Given the description of an element on the screen output the (x, y) to click on. 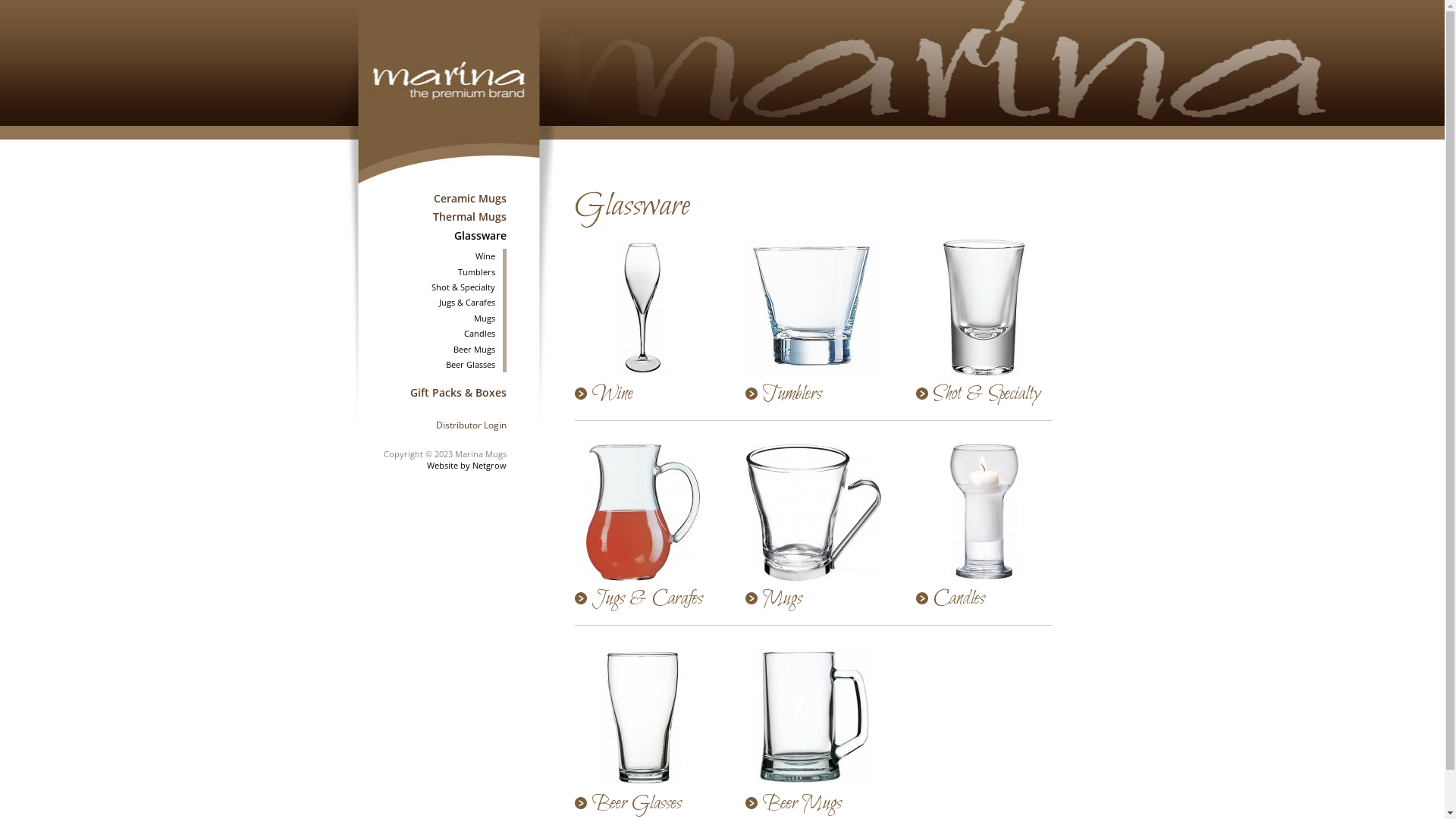
Beer Glasses Element type: text (432, 364)
Beer Glasses Element type: text (642, 803)
Candles Element type: text (984, 598)
Shot & Specialty Element type: text (984, 393)
Mugs Element type: text (432, 318)
Gift Packs & Boxes Element type: text (438, 392)
Mugs Element type: text (812, 598)
Website by Netgrow Element type: text (465, 464)
Marina, the premium brand Element type: text (448, 82)
Wine Element type: text (642, 393)
Beer Mugs Element type: text (812, 803)
Tumblers Element type: text (432, 271)
Glassware Element type: text (438, 235)
Shot & Specialty Element type: text (432, 286)
Candles Element type: text (432, 333)
Ceramic Mugs Element type: text (438, 198)
Distributor Login Element type: text (438, 425)
Tumblers Element type: text (812, 393)
Jugs & Carafes Element type: text (432, 302)
Wine Element type: text (432, 255)
Thermal Mugs Element type: text (438, 216)
Beer Mugs Element type: text (432, 349)
Jugs & Carafes Element type: text (642, 598)
